Given the description of an element on the screen output the (x, y) to click on. 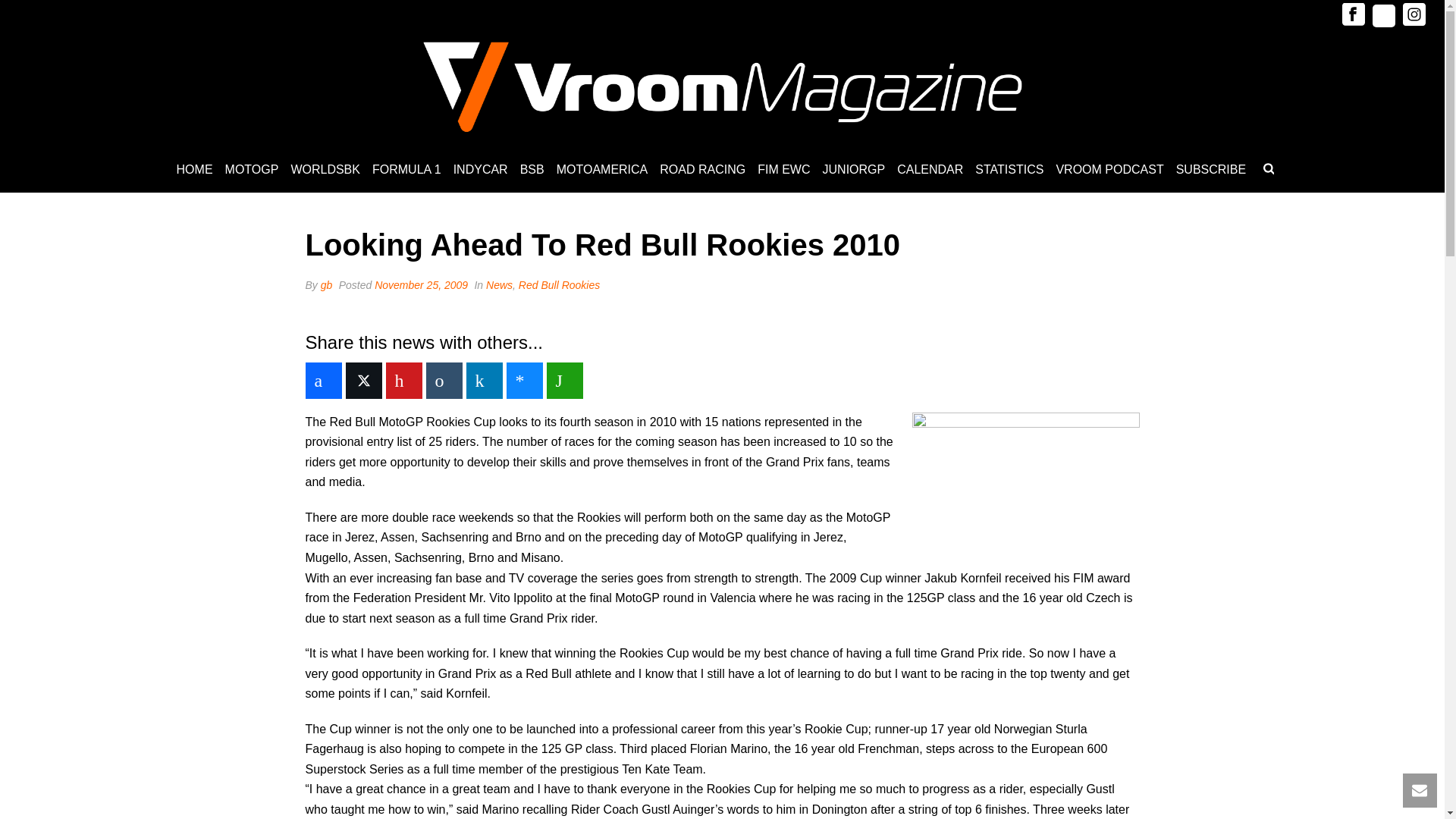
Share on Pinterest (403, 380)
CALENDAR (930, 169)
FIM EWC (783, 169)
INDYCAR (479, 169)
FORMULA 1 (406, 169)
Share on Facebook (322, 380)
WORLDSBK (324, 169)
FORMULA 1 (406, 169)
CALENDAR (930, 169)
JUNIORGP (853, 169)
